Given the description of an element on the screen output the (x, y) to click on. 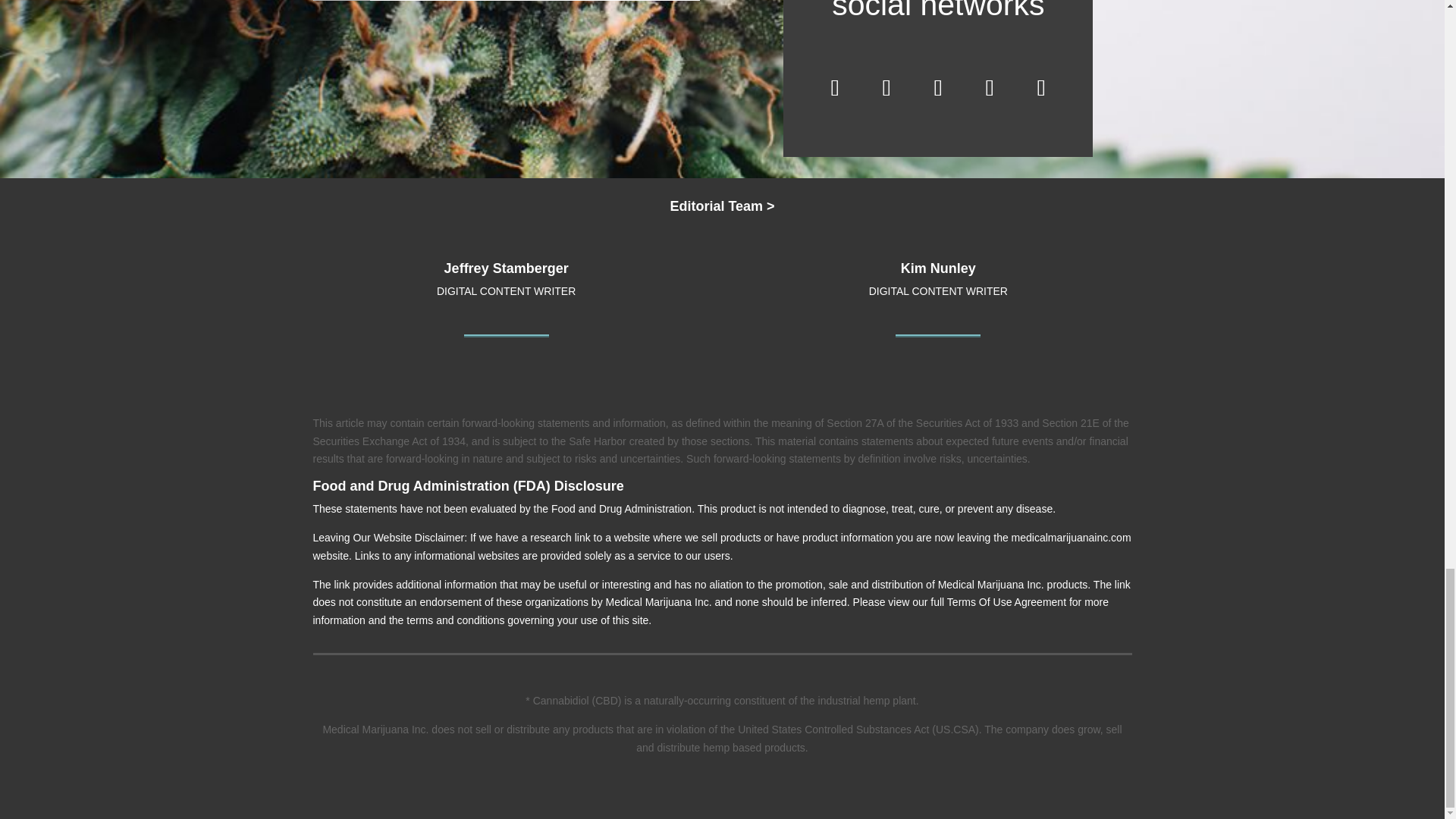
Follow on Facebook (834, 87)
Follow on Youtube (1040, 87)
Follow on LinkedIn (988, 87)
Follow on Twitter (885, 87)
Follow on Instagram (937, 87)
Subscribe (341, 0)
